Given the description of an element on the screen output the (x, y) to click on. 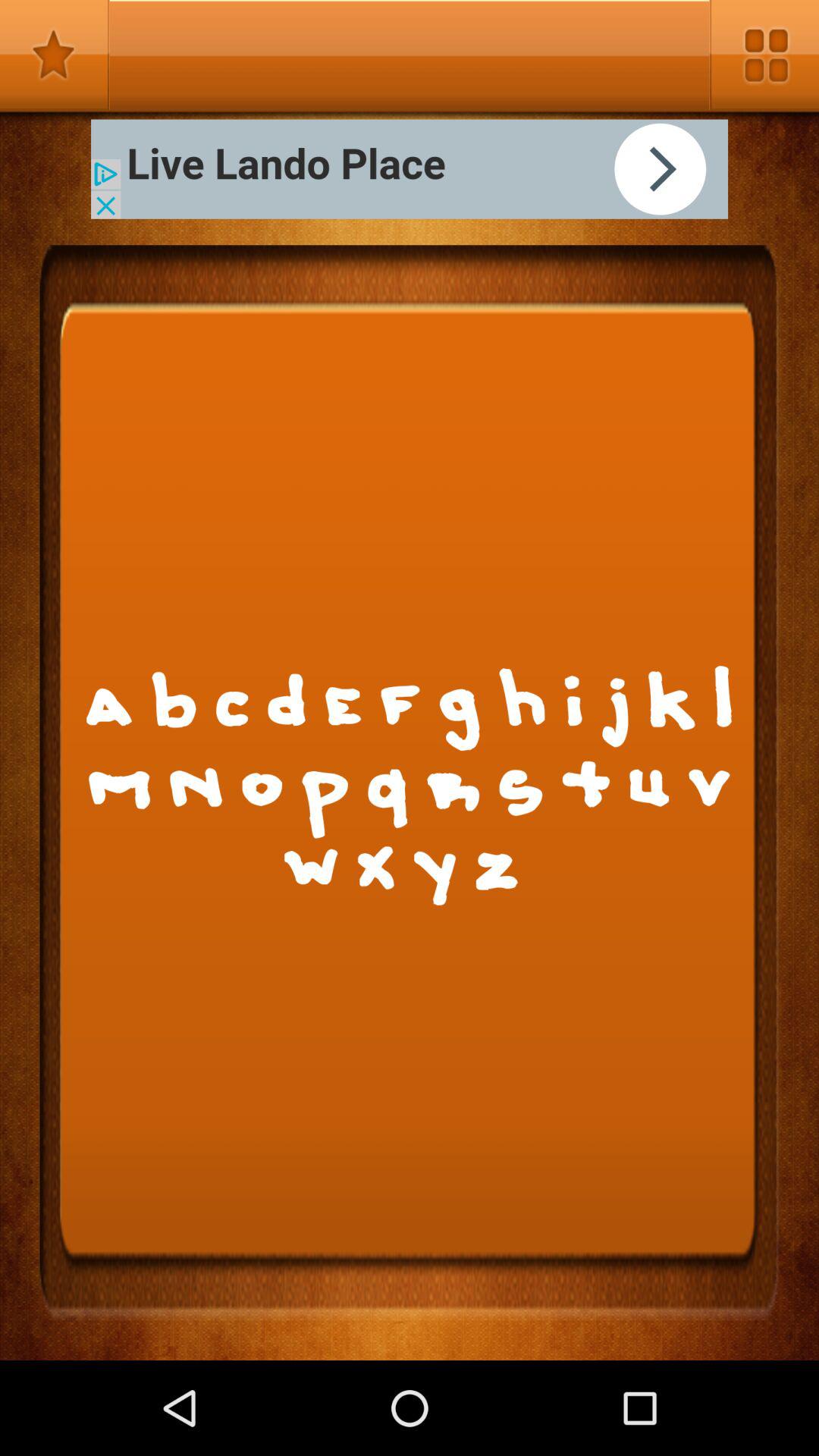
click the star button (54, 54)
